Given the description of an element on the screen output the (x, y) to click on. 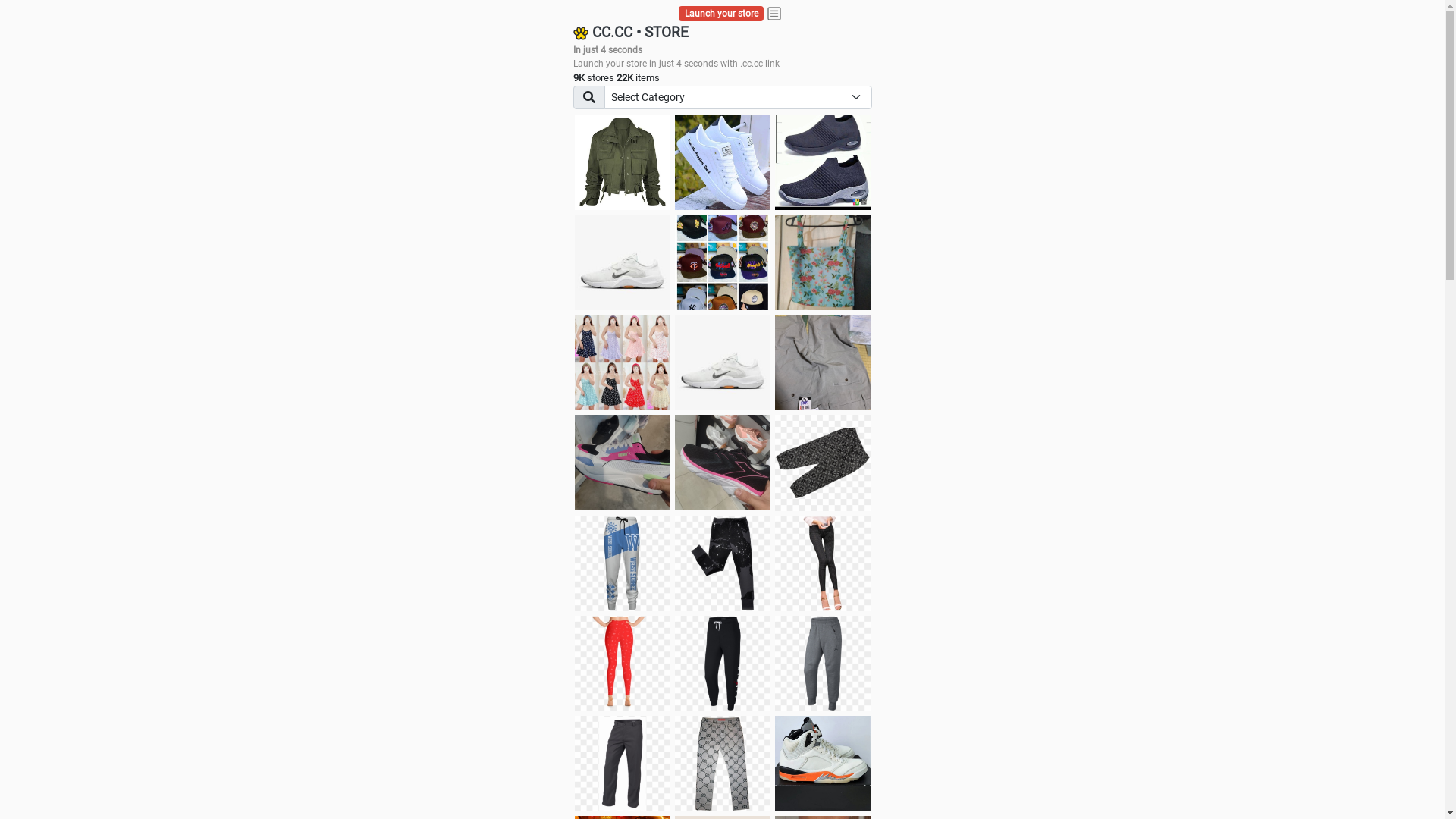
Ukay cloth Element type: hover (822, 262)
Zapatillas pumas Element type: hover (622, 462)
Pant Element type: hover (722, 663)
white shoes Element type: hover (722, 162)
Dress/square nect top Element type: hover (622, 362)
Pant Element type: hover (722, 763)
jacket Element type: hover (622, 162)
Pant Element type: hover (622, 563)
Pant Element type: hover (622, 763)
Pant Element type: hover (622, 663)
Launch your store Element type: text (721, 13)
Shoes Element type: hover (722, 362)
Short pant Element type: hover (822, 462)
Things we need Element type: hover (722, 262)
Pant Element type: hover (822, 663)
Pant Element type: hover (722, 563)
Zapatillas Element type: hover (722, 462)
Shoes for boys Element type: hover (622, 262)
Pant Element type: hover (822, 563)
shoes for boys Element type: hover (822, 162)
Shoe Element type: hover (822, 763)
